Given the description of an element on the screen output the (x, y) to click on. 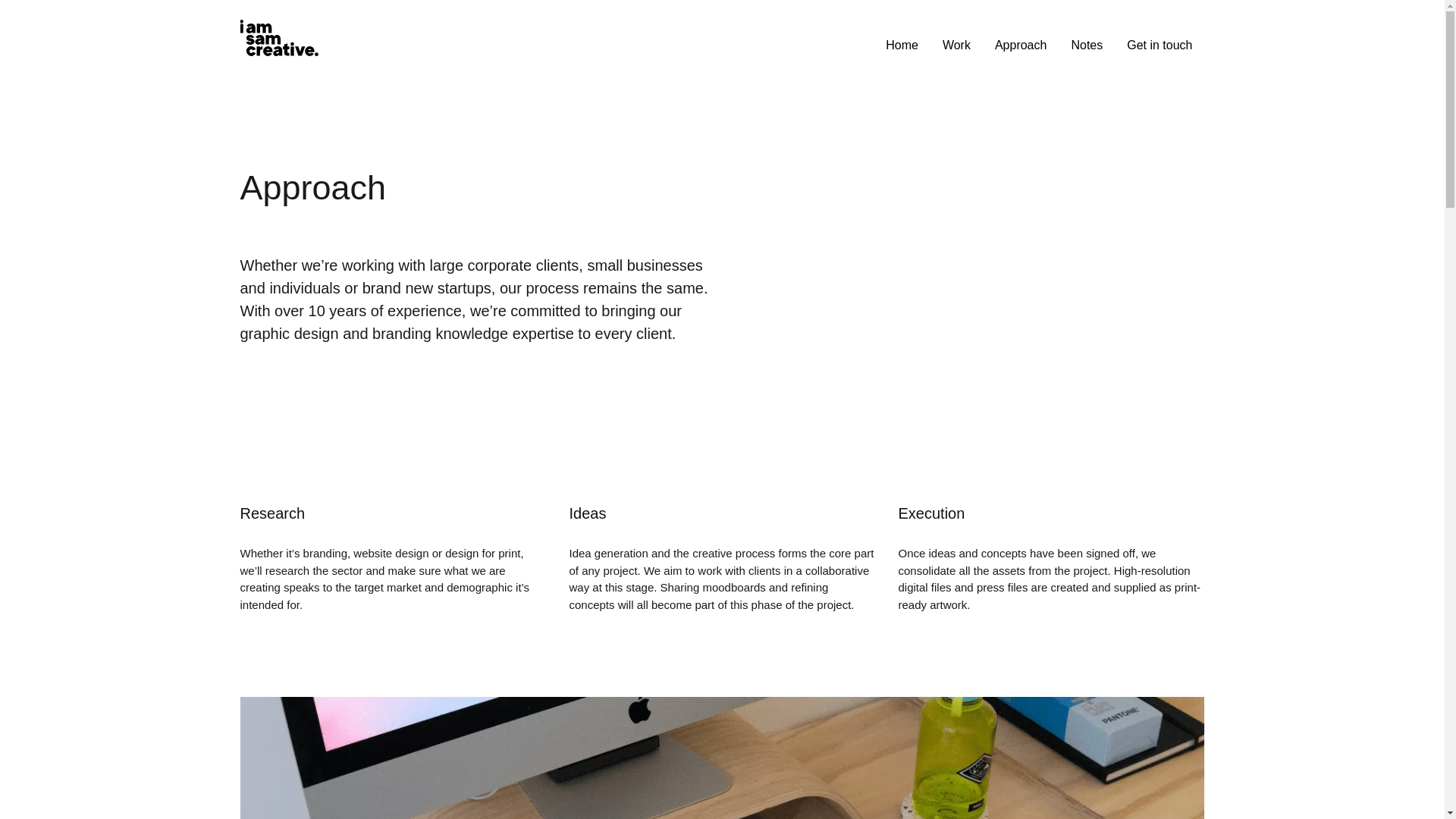
Work (956, 45)
Approach (1020, 45)
Get in touch (1159, 45)
Notes (1086, 45)
Home (901, 45)
